Given the description of an element on the screen output the (x, y) to click on. 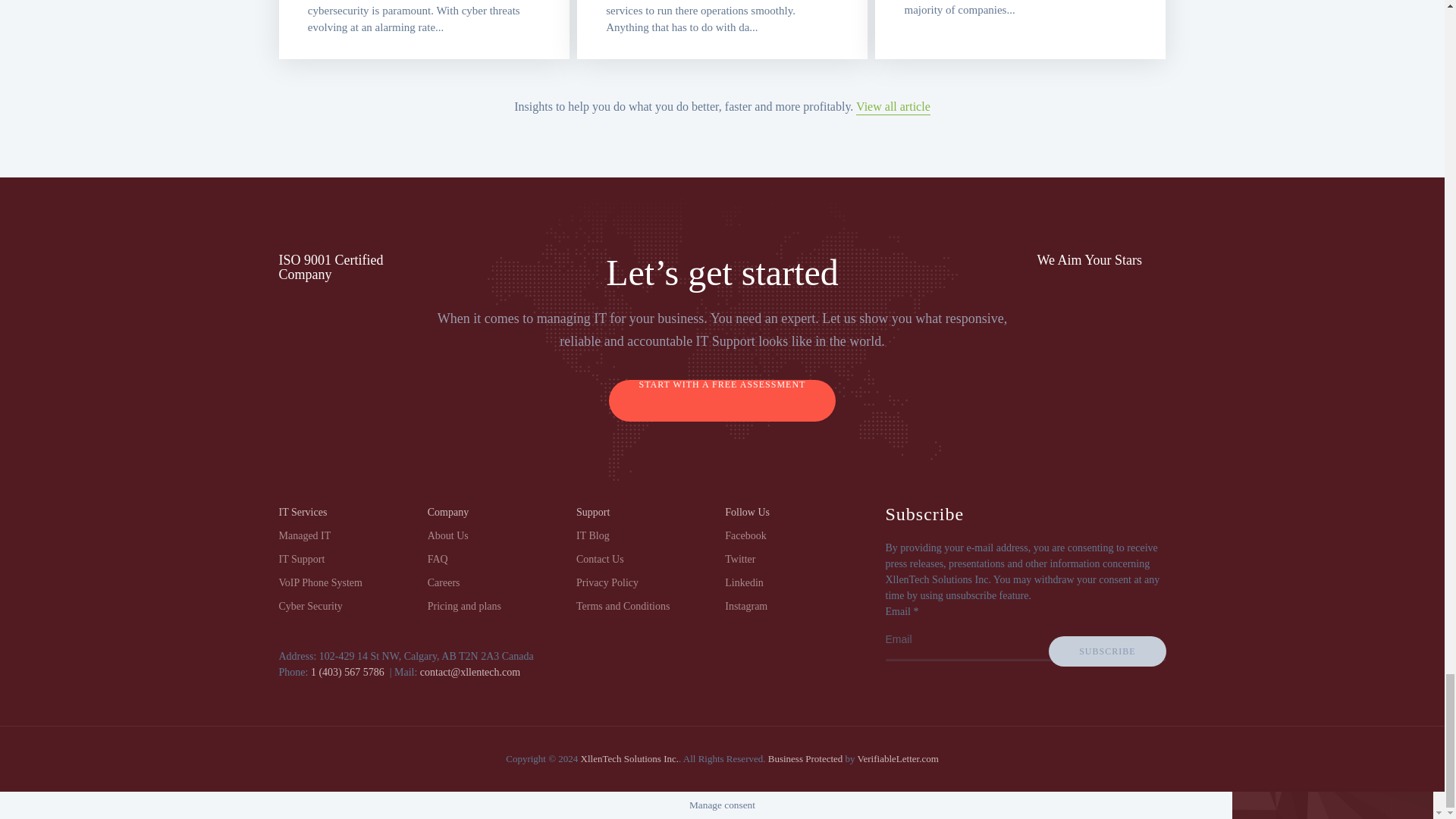
Subscribe (1107, 651)
